Given the description of an element on the screen output the (x, y) to click on. 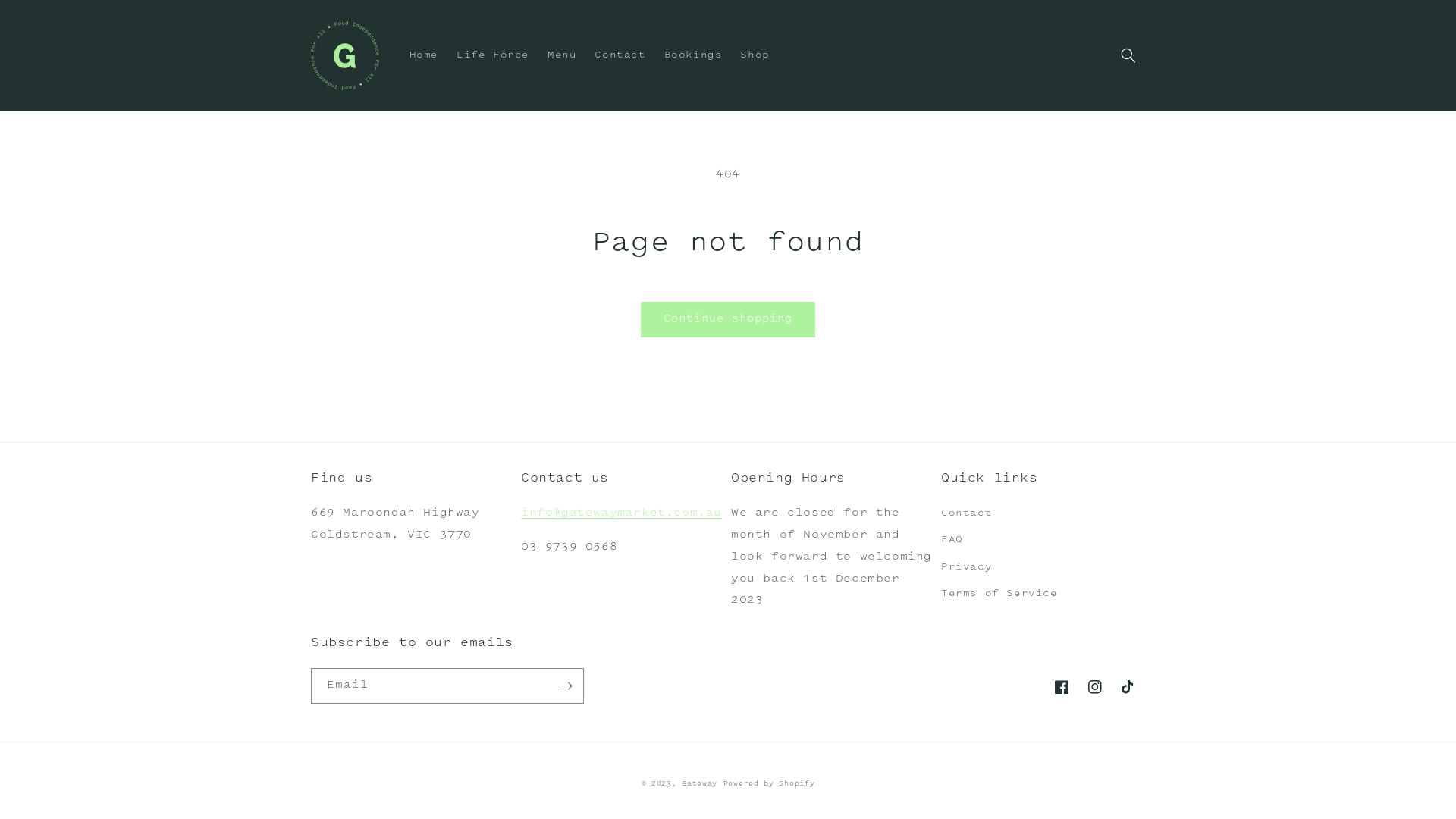
Home Element type: text (423, 55)
TikTok Element type: text (1128, 686)
Bookings Element type: text (693, 55)
Contact Element type: text (966, 515)
Contact Element type: text (619, 55)
info@gatewaymarket.com.au Element type: text (620, 512)
Facebook Element type: text (1061, 686)
Life Force Element type: text (492, 55)
Continue shopping Element type: text (727, 319)
Menu Element type: text (561, 55)
Powered by Shopify Element type: text (769, 783)
Privacy Element type: text (966, 567)
Instagram Element type: text (1094, 686)
Terms of Service Element type: text (999, 593)
FAQ Element type: text (952, 540)
Gateway Element type: text (699, 783)
Shop Element type: text (754, 55)
